Given the description of an element on the screen output the (x, y) to click on. 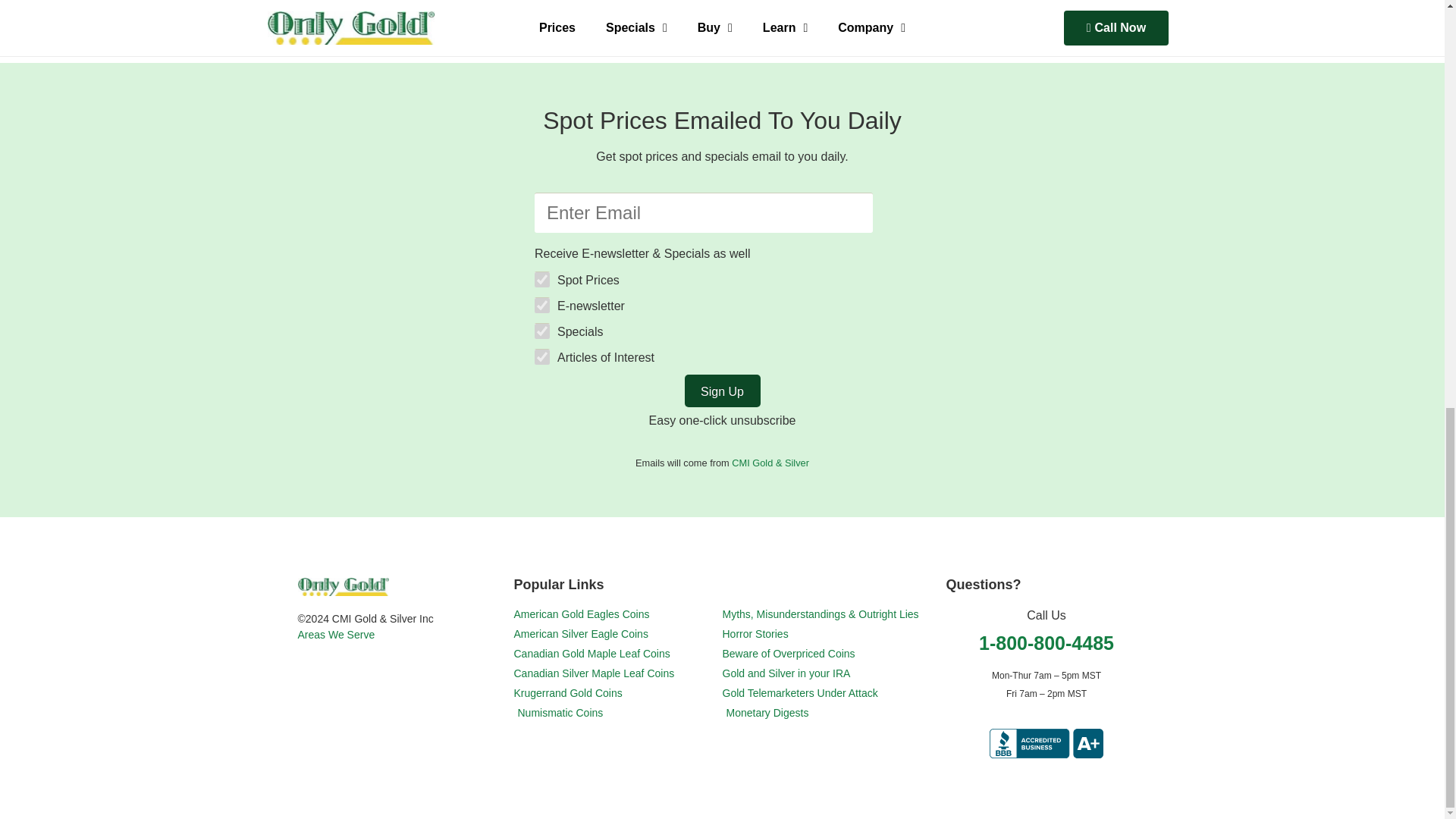
18de198d77 (542, 279)
7c1ad30ca8 (542, 331)
Sign Up (722, 389)
e4e387bb23 (542, 305)
ac0348d718 (542, 356)
